Given the description of an element on the screen output the (x, y) to click on. 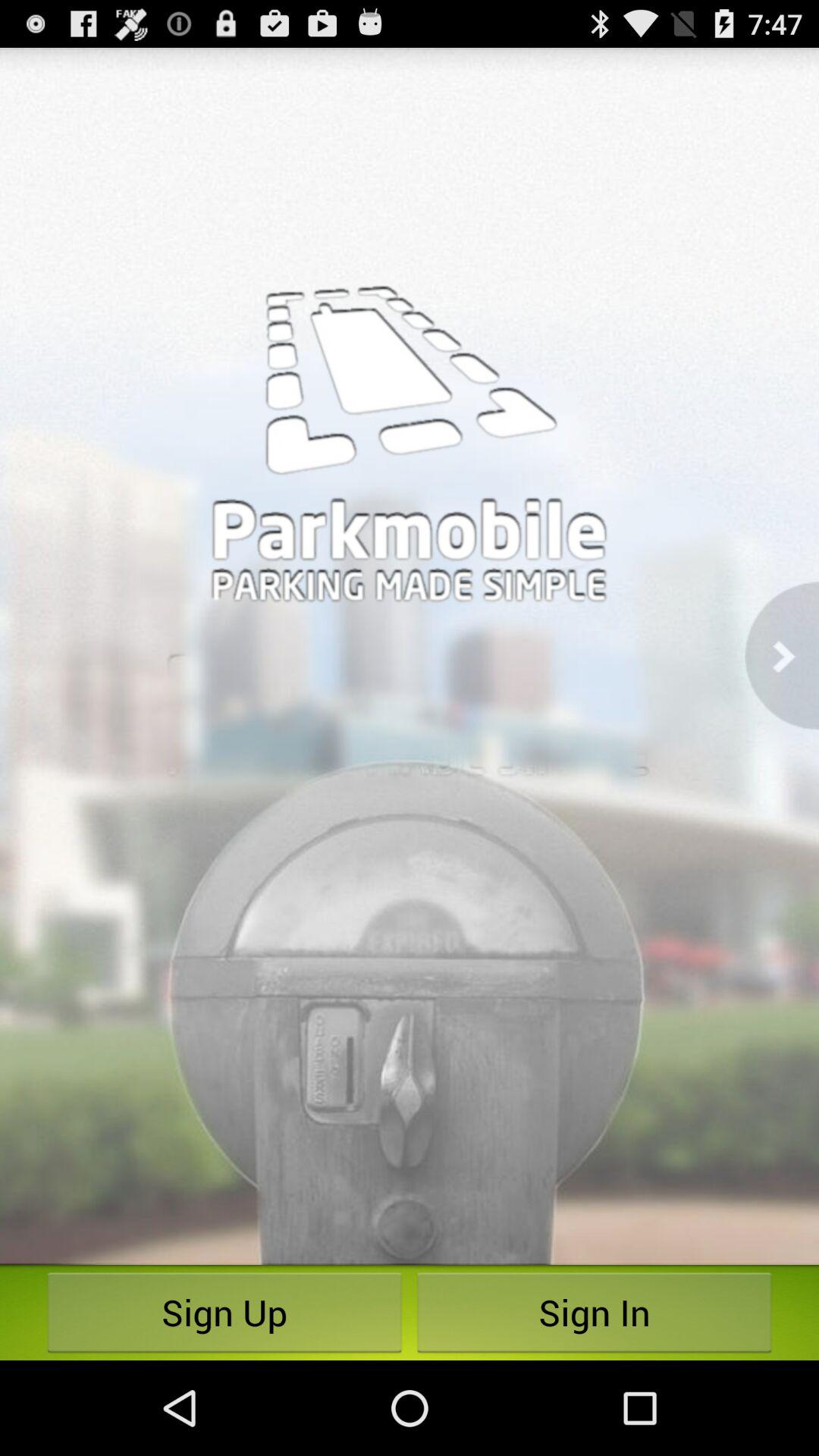
swipe until the sign up (224, 1312)
